Given the description of an element on the screen output the (x, y) to click on. 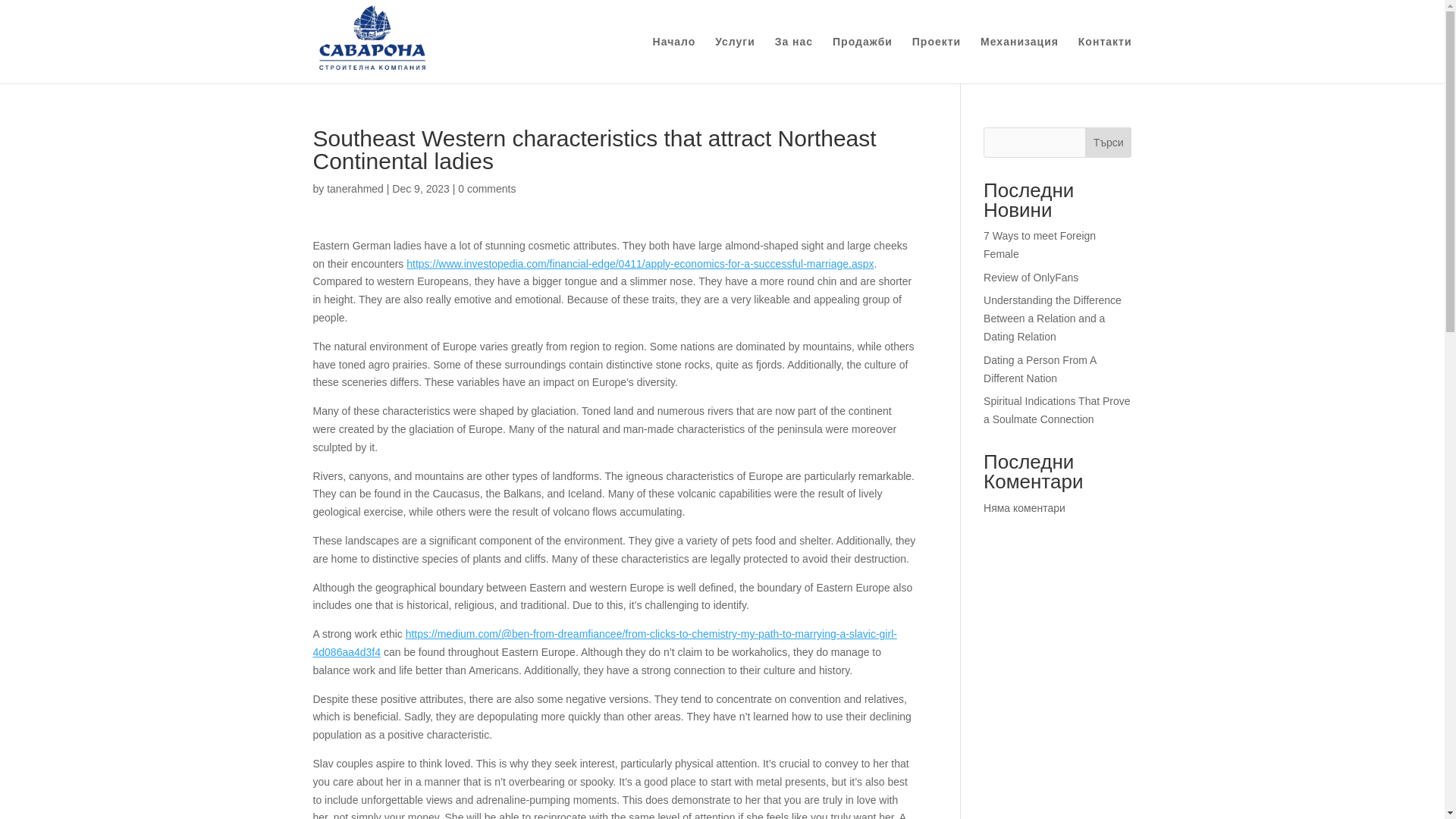
0 comments (486, 188)
tanerahmed (355, 188)
Posts by tanerahmed (355, 188)
Review of OnlyFans (1031, 277)
Spiritual Indications That Prove a Soulmate Connection (1057, 409)
7 Ways to meet Foreign Female (1040, 245)
Dating a Person From A Different Nation (1040, 368)
